Given the description of an element on the screen output the (x, y) to click on. 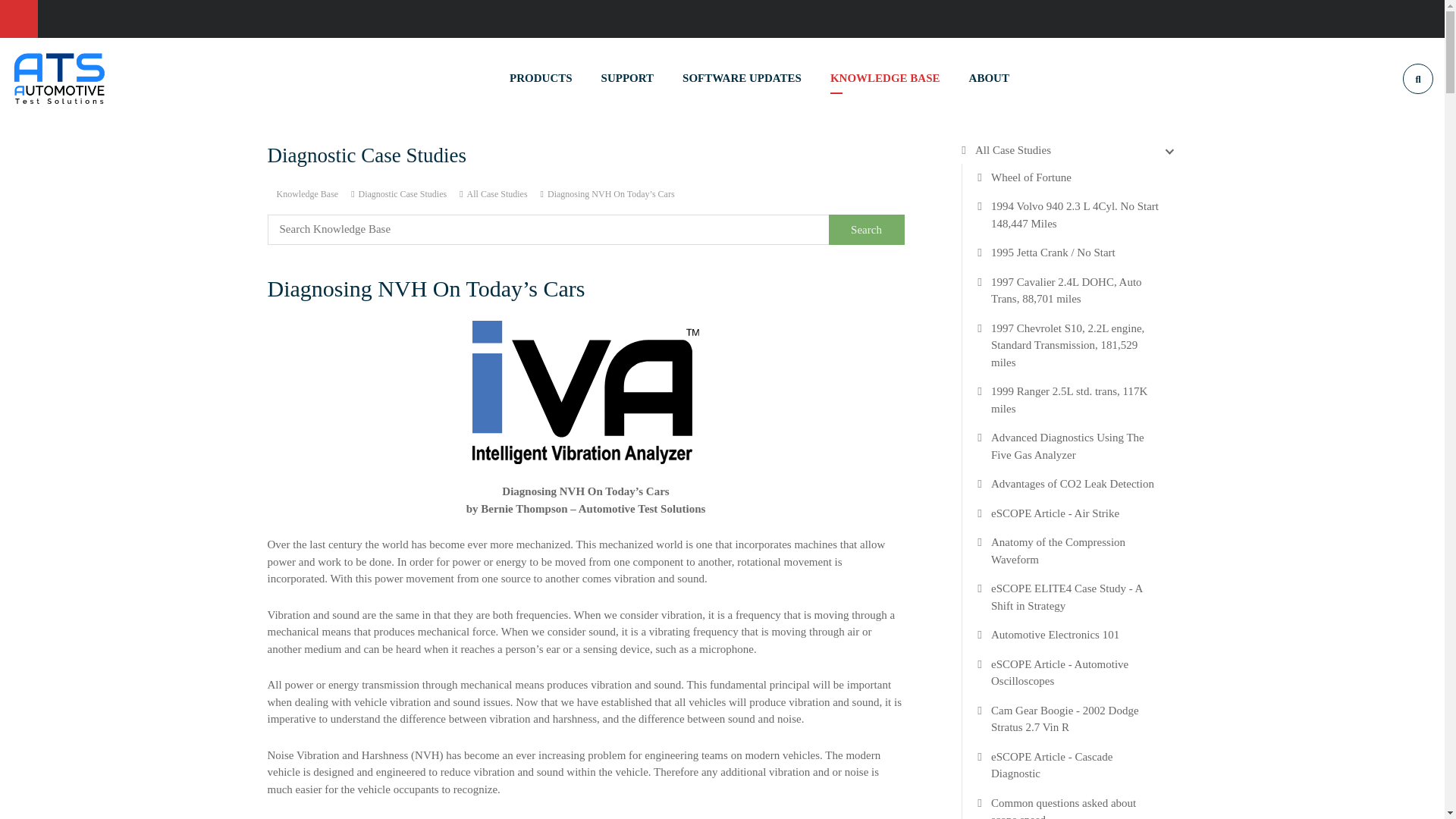
eSCOPE Article - Automotive Oscilloscopes (1077, 672)
1997 Cavalier 2.4L DOHC, Auto Trans, 88,701 miles (1077, 289)
Wheel of Fortune (1031, 176)
1999 Ranger 2.5L std. trans, 117K miles (1077, 399)
Anatomy of the Compression Waveform (1077, 550)
eSCOPE Article - Cascade Diagnostic (1077, 764)
SOFTWARE UPDATES (742, 77)
Cam Gear Boogie - 2002 Dodge Stratus 2.7 Vin R (1077, 718)
Common questions asked about scope speed (1077, 806)
Advantages of CO2 Leak Detection (1072, 484)
KNOWLEDGE BASE (884, 77)
Search (866, 228)
Automotive Test Solutions (58, 78)
Diagnostic Case Studies (402, 193)
Advanced Diagnostics Using The Five Gas Analyzer (1077, 446)
